Given the description of an element on the screen output the (x, y) to click on. 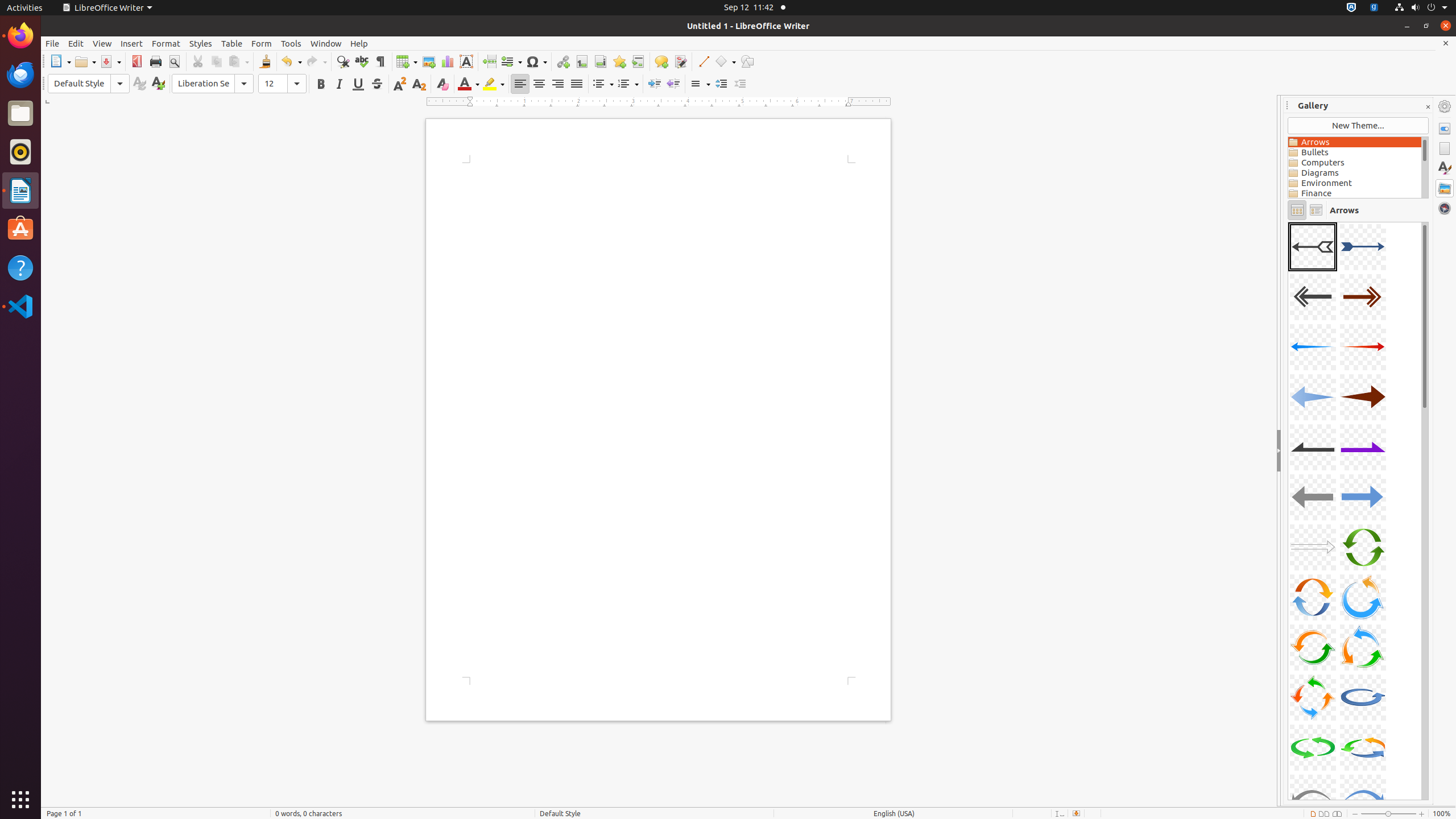
Help Element type: push-button (20, 267)
A01-Arrow-Gray-Left Element type: list-item (1312, 246)
org.kde.StatusNotifierItem-14077-1 Element type: menu (1373, 7)
A18-CircleArrow Element type: list-item (1362, 646)
Redo Element type: push-button (315, 61)
